Given the description of an element on the screen output the (x, y) to click on. 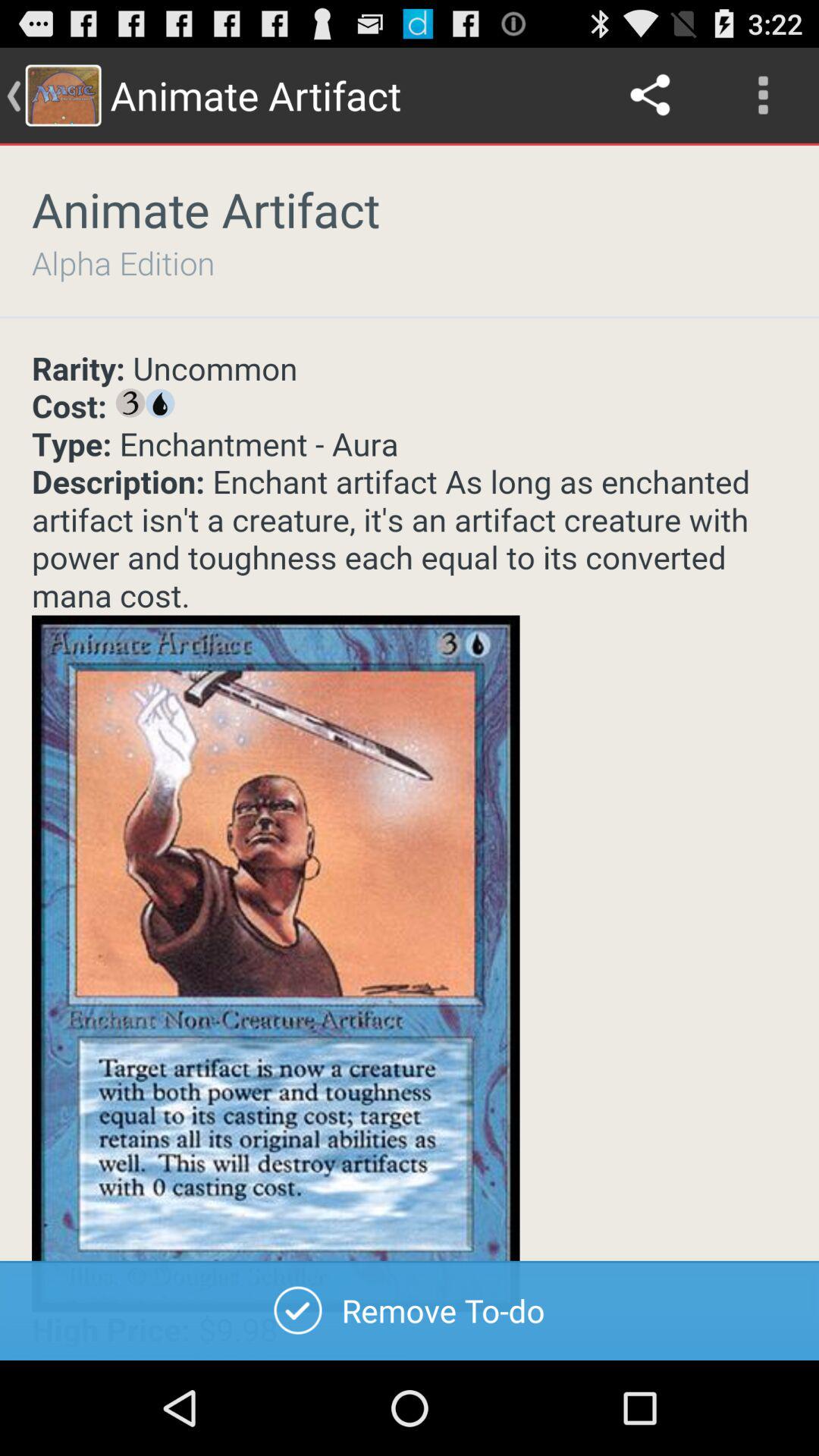
turn on item at the center (409, 855)
